Given the description of an element on the screen output the (x, y) to click on. 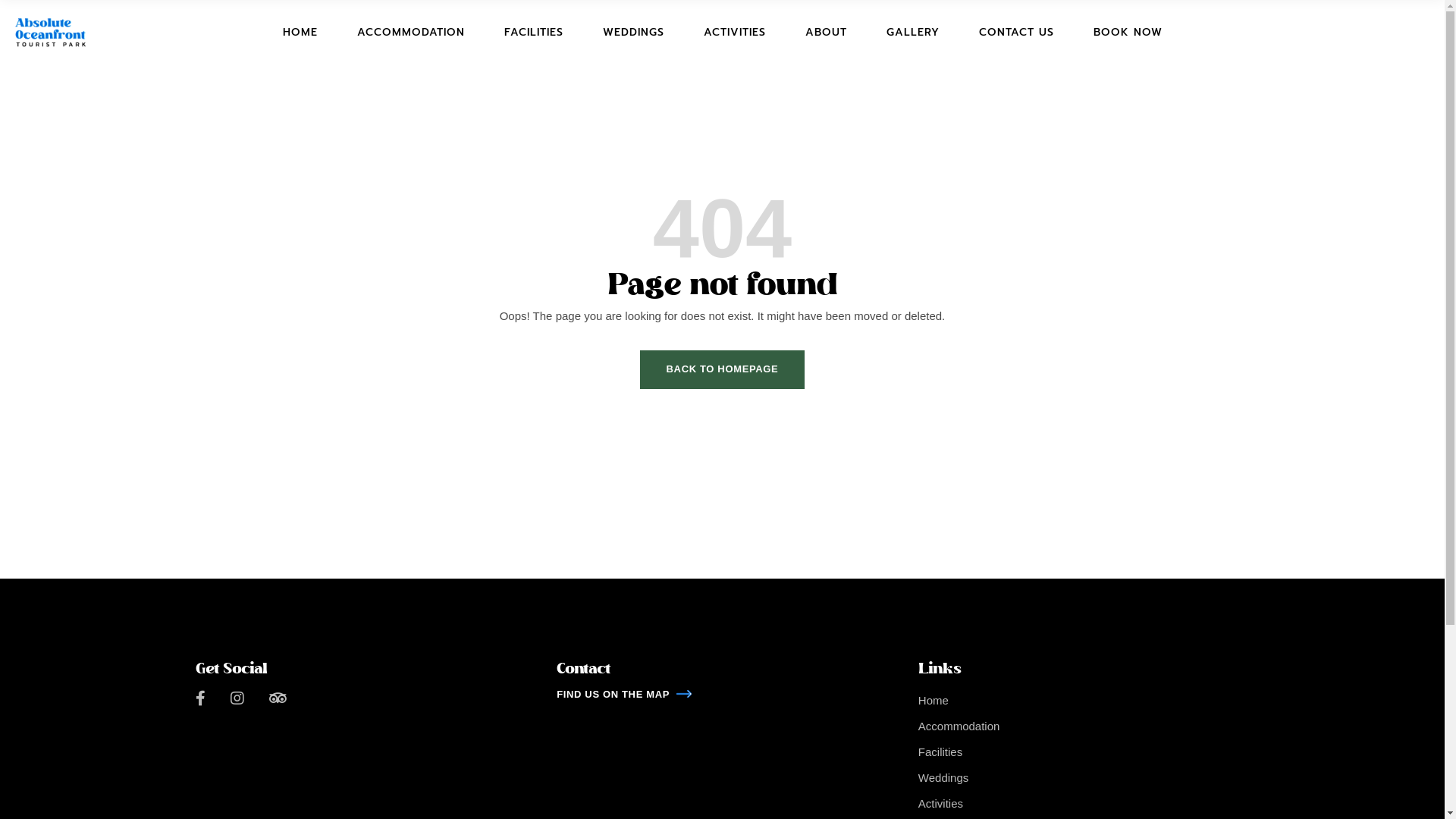
ACCOMMODATION Element type: text (410, 32)
WEDDINGS Element type: text (632, 32)
HOME Element type: text (299, 32)
ABOUT Element type: text (826, 32)
ACTIVITIES Element type: text (734, 32)
Facilities Element type: text (940, 751)
Accommodation Element type: text (959, 725)
BOOK NOW Element type: text (1127, 32)
FIND US ON THE MAP Element type: text (623, 694)
FACILITIES Element type: text (532, 32)
GALLERY Element type: text (911, 32)
CONTACT US Element type: text (1015, 32)
Weddings Element type: text (943, 777)
Home Element type: text (933, 699)
BACK TO HOMEPAGE Element type: text (722, 369)
Activities Element type: text (940, 803)
